Given the description of an element on the screen output the (x, y) to click on. 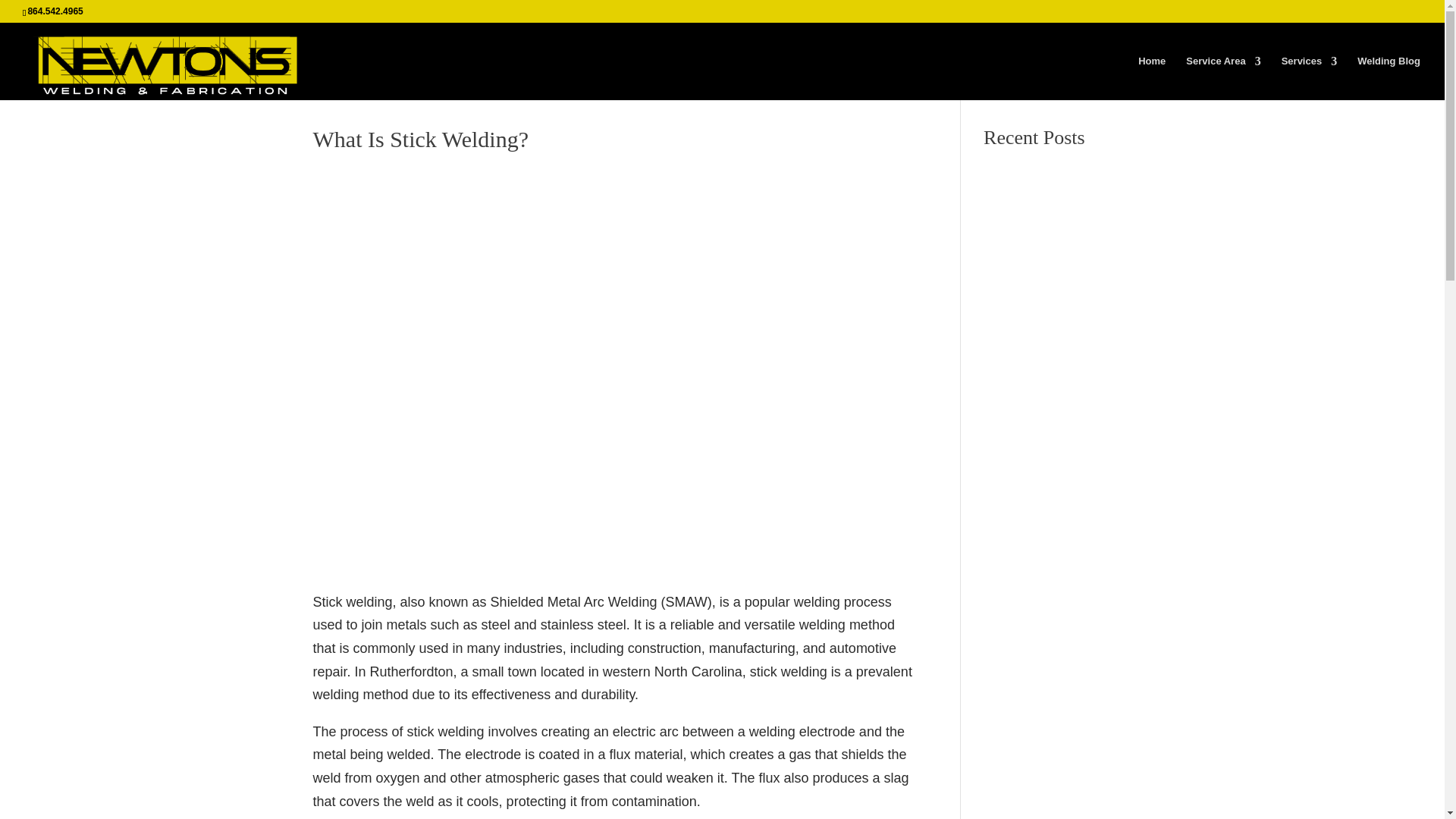
Services (1309, 77)
Service Area (1223, 77)
Welding Blog (1388, 77)
